Given the description of an element on the screen output the (x, y) to click on. 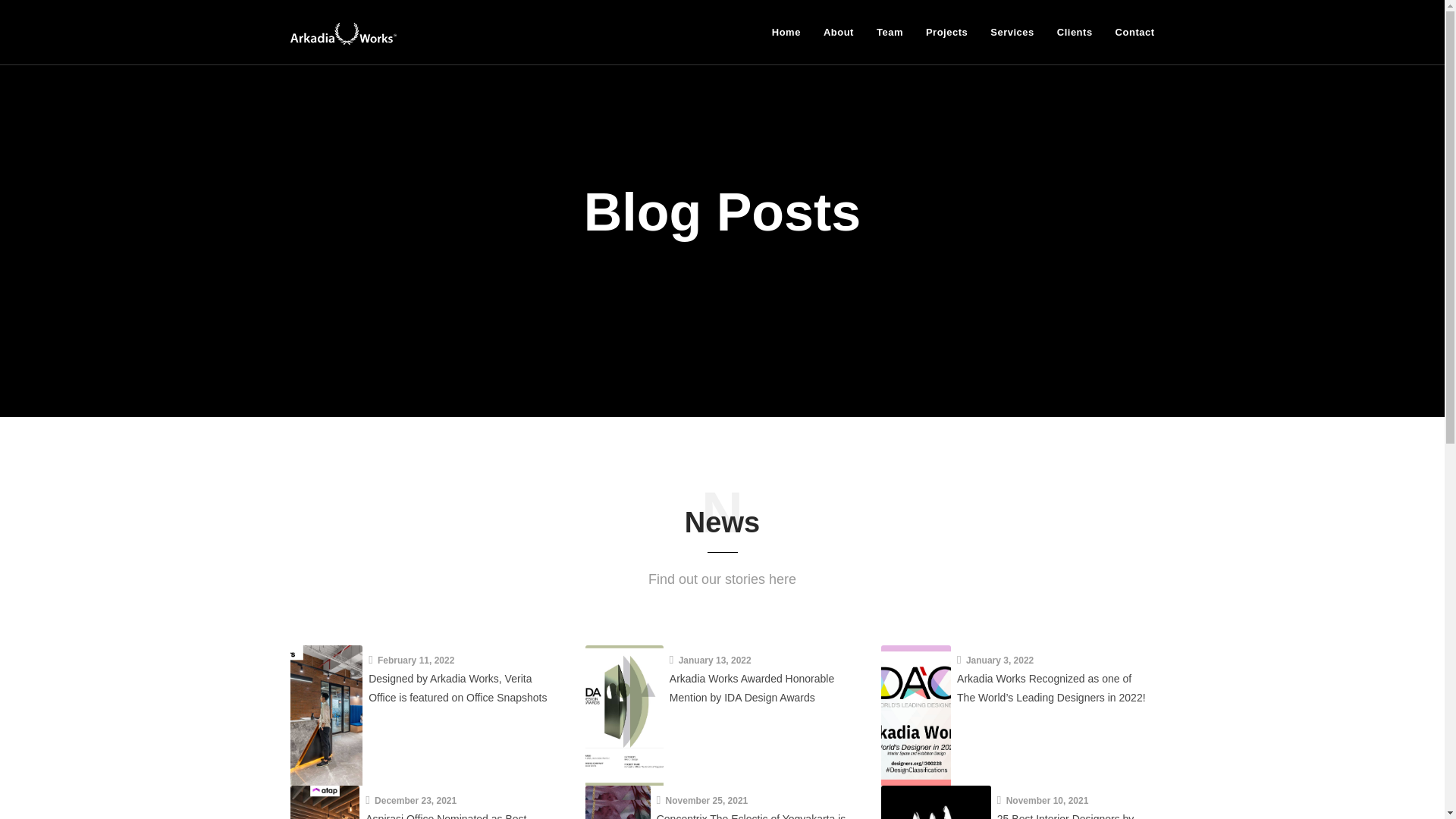
Team (889, 31)
Home (786, 31)
About (838, 31)
25 Best Interior Designers by BRABBU (1065, 816)
Clients (1074, 31)
25 Best Interior Designers by BRABBU (935, 802)
Arkadia Works Awarded Honorable Mention by IDA Design Awards (751, 687)
Arkadia Works Awarded Honorable Mention by IDA Design Awards (623, 714)
Contact (1128, 31)
Services (1011, 31)
